Given the description of an element on the screen output the (x, y) to click on. 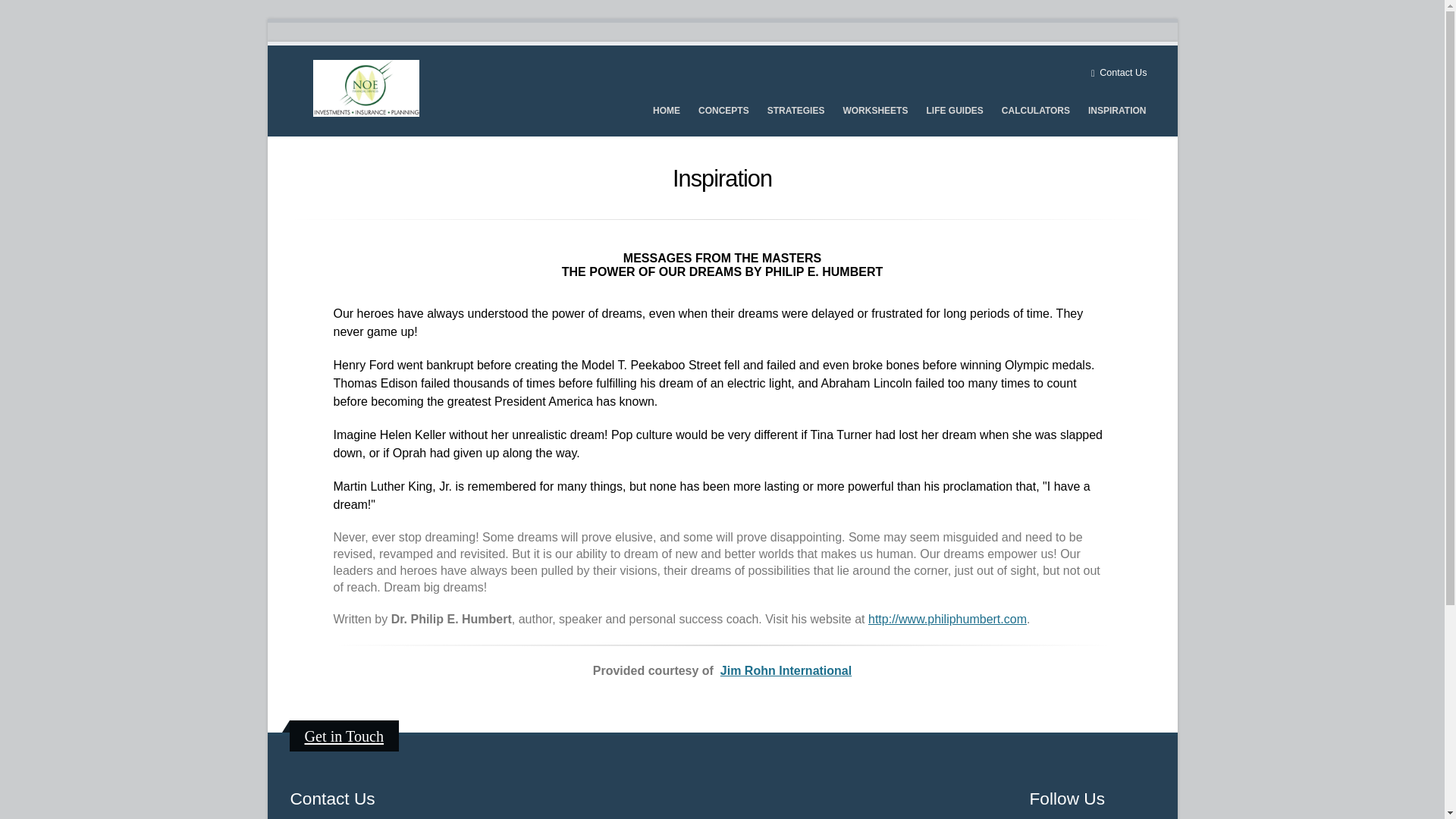
WORKSHEETS (874, 110)
Noe Financial Services, Inc. (365, 88)
Jim Rohn International (785, 670)
LIFE GUIDES (954, 110)
INSPIRATION (1117, 110)
CONCEPTS (723, 110)
STRATEGIES (795, 110)
HOME (666, 110)
Get in Touch (344, 736)
Contact Us (1118, 72)
CALCULATORS (1035, 110)
